Given the description of an element on the screen output the (x, y) to click on. 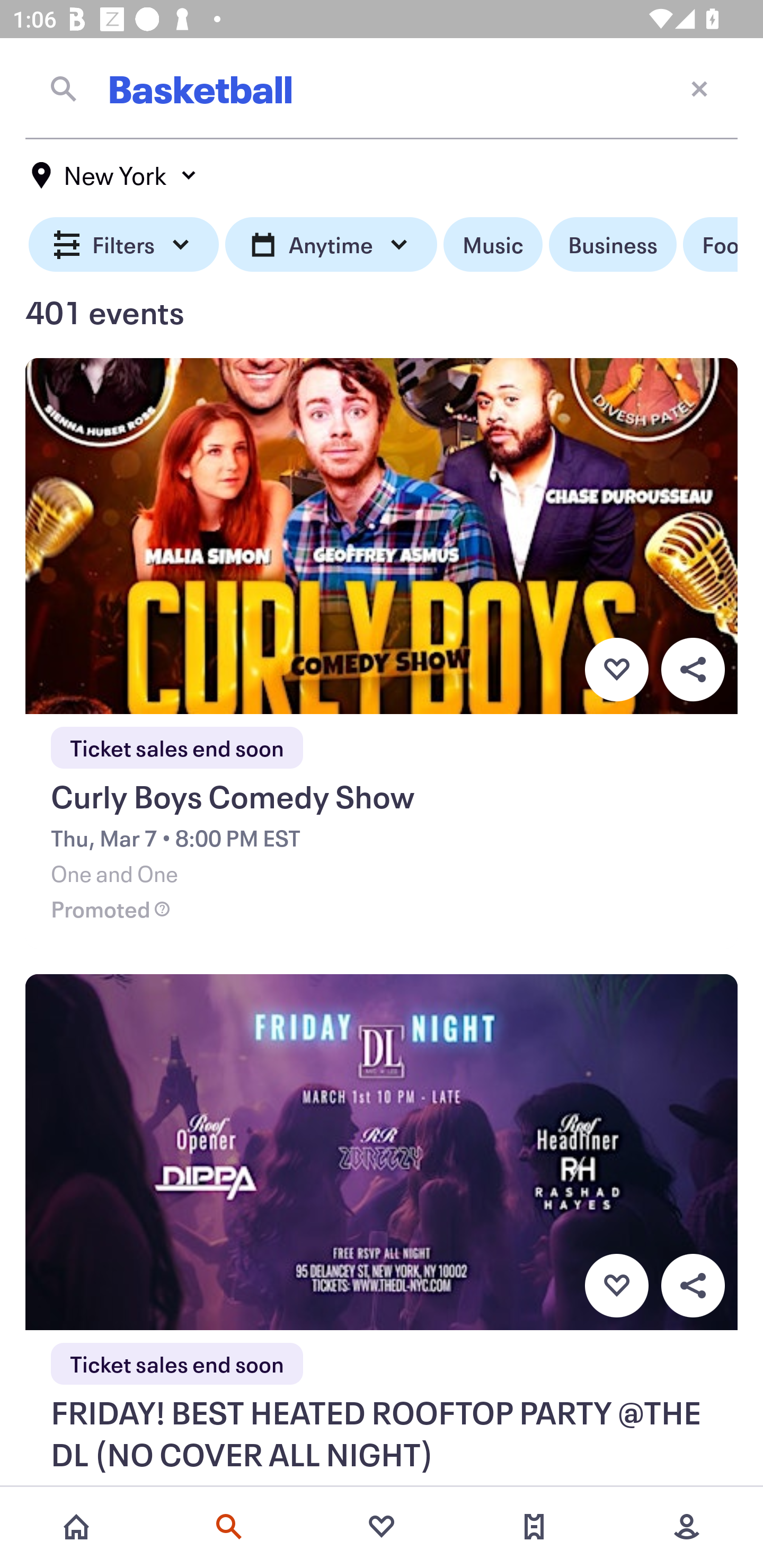
Basketball Close current screen (381, 88)
Close current screen (699, 88)
New York (114, 175)
Filters (123, 244)
Anytime (331, 244)
Music (492, 244)
Business (612, 244)
Favorite button (616, 669)
Overflow menu button (692, 669)
Favorite button (616, 1285)
Overflow menu button (692, 1285)
Home (76, 1526)
Search events (228, 1526)
Favorites (381, 1526)
Tickets (533, 1526)
More (686, 1526)
